Given the description of an element on the screen output the (x, y) to click on. 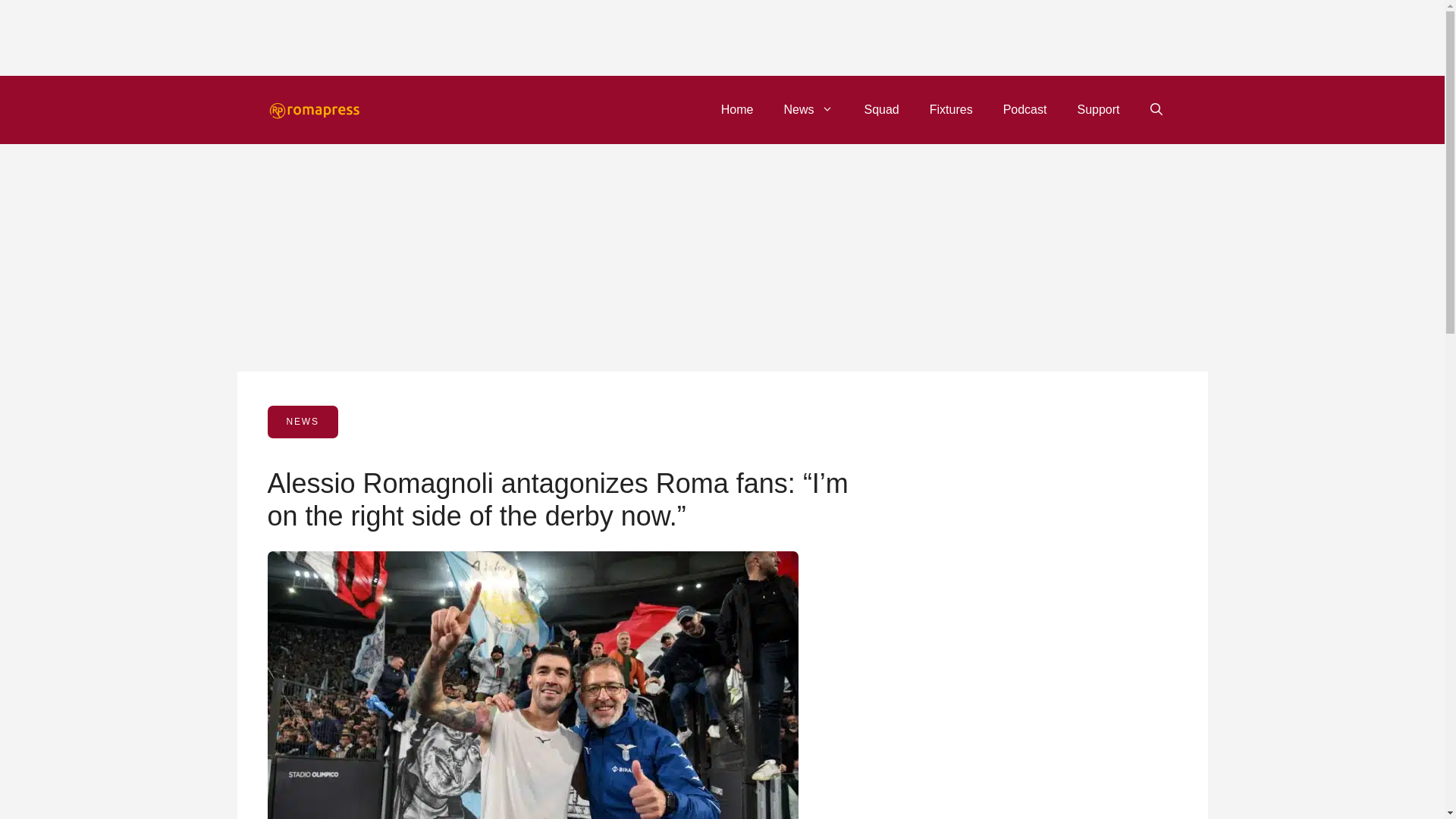
Home (737, 109)
Fixtures (951, 109)
News (808, 109)
Squad (881, 109)
Podcast (1025, 109)
Support (1097, 109)
